Given the description of an element on the screen output the (x, y) to click on. 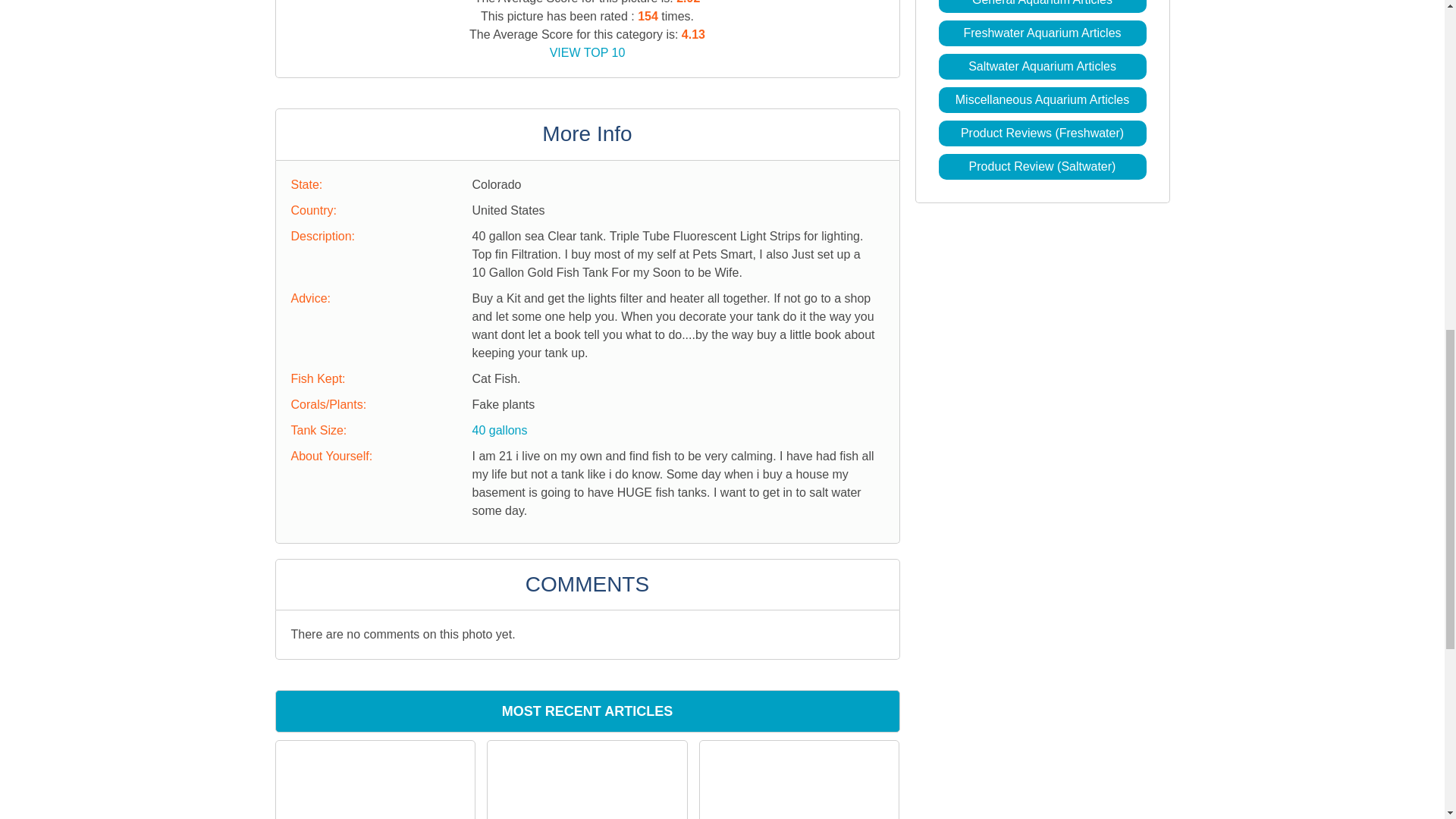
Jewel Cichlid Species Profile (798, 748)
Saltwater Aquarium Articles (1042, 65)
The Basics of Freshwater Fish Compatibility (375, 780)
Miscellaneous Aquarium Articles (1042, 99)
Jewel Cichlid Species Profile (799, 780)
40 gallons (499, 430)
Freshwater Aquarium Articles (1041, 32)
How to Keep Your Saltwater Aquarium from Overheating (587, 760)
VIEW TOP 10 (588, 51)
How to Keep Your Saltwater Aquarium from Overheating (586, 780)
